Given the description of an element on the screen output the (x, y) to click on. 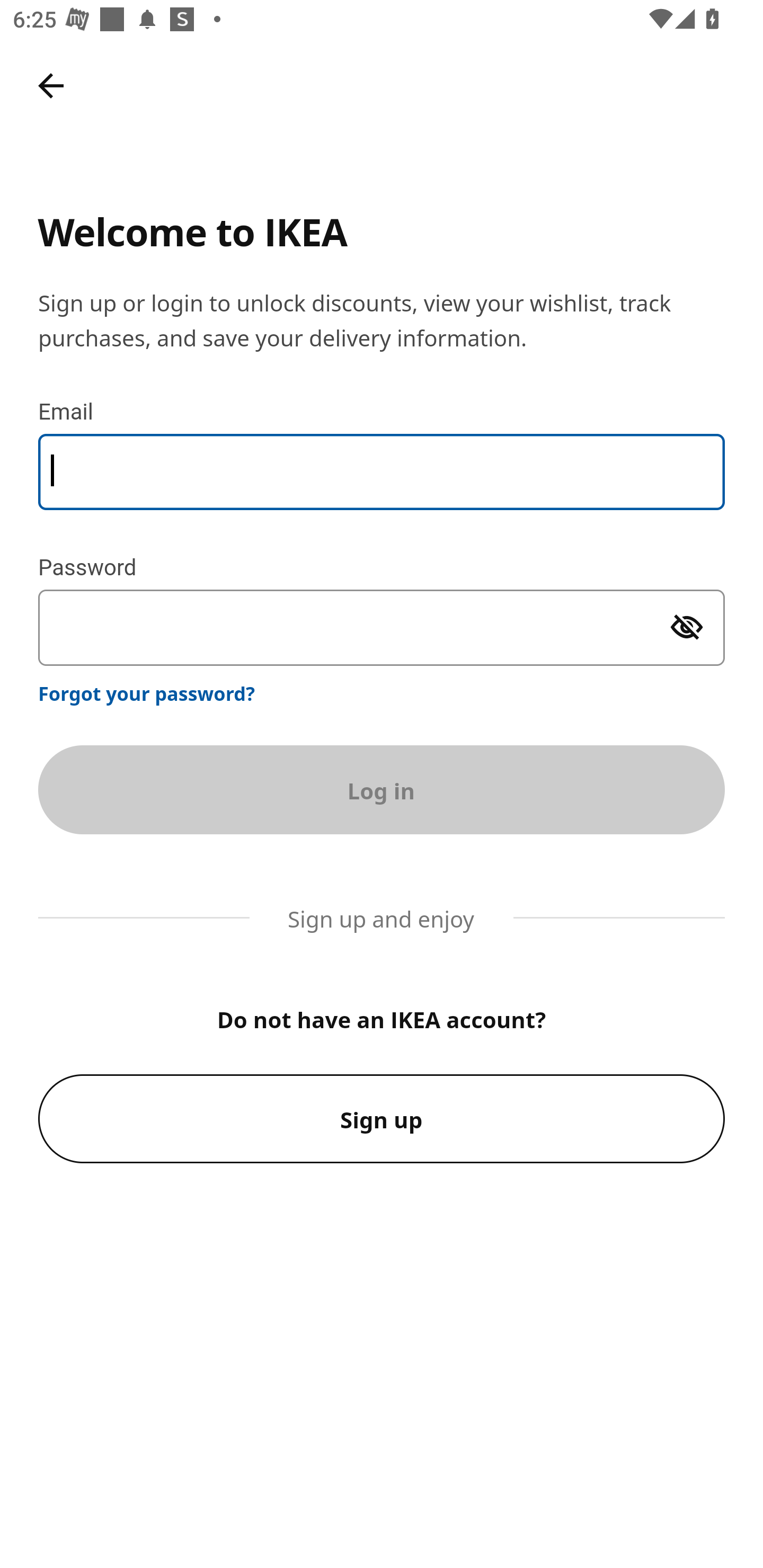
Forgot your password? (146, 692)
Log in (381, 789)
Sign up (381, 1118)
